Given the description of an element on the screen output the (x, y) to click on. 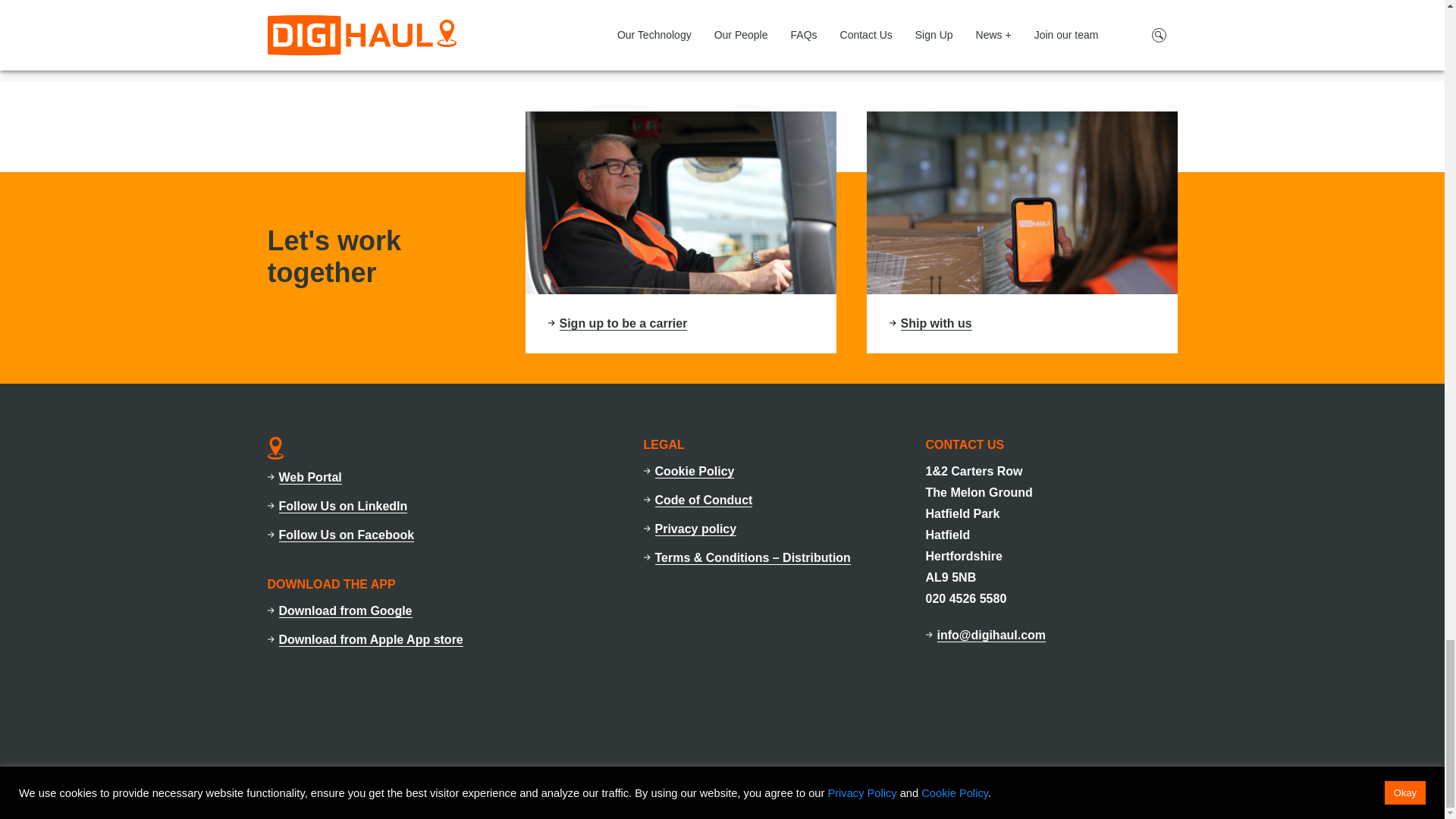
Download from Apple App store (371, 640)
Sign up to be a carrier (623, 323)
Web Portal (310, 477)
Code of Conduct (703, 499)
Cookie Policy (695, 471)
Ship with us (936, 323)
Follow Us on LinkedIn (343, 506)
Follow Us on Facebook (346, 535)
Privacy policy (695, 529)
Download from Google (345, 611)
